Given the description of an element on the screen output the (x, y) to click on. 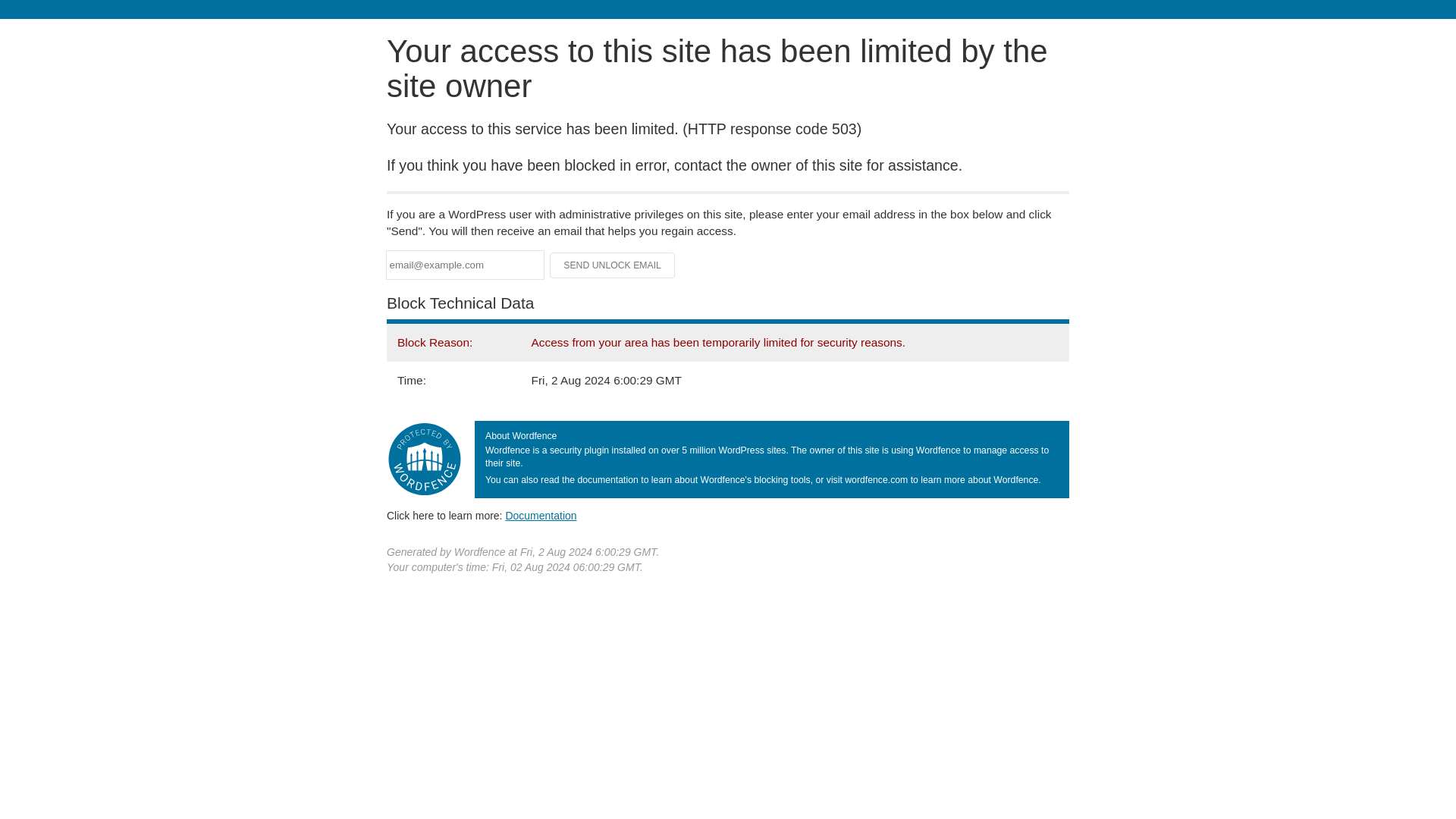
Send Unlock Email (612, 265)
Documentation (540, 515)
Send Unlock Email (612, 265)
